Given the description of an element on the screen output the (x, y) to click on. 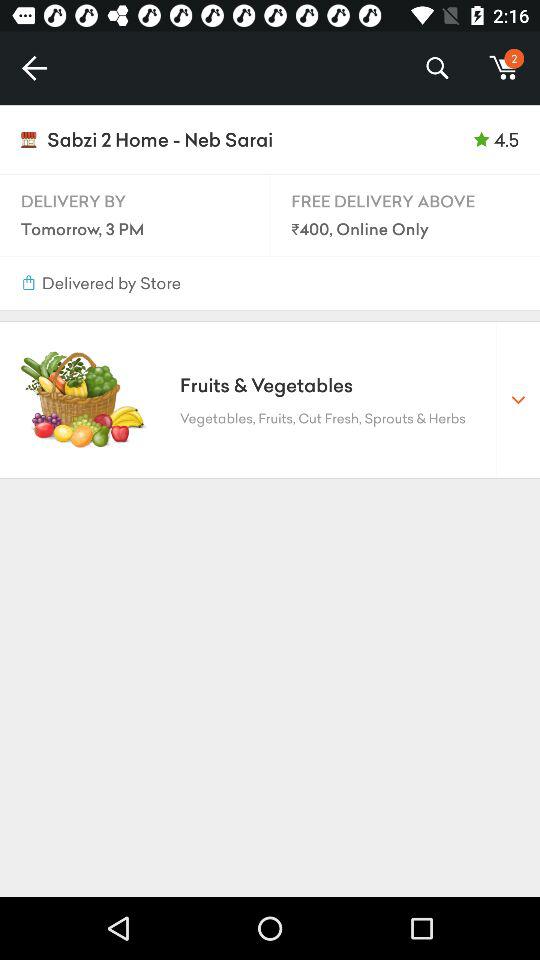
launch icon next to the % (503, 67)
